Given the description of an element on the screen output the (x, y) to click on. 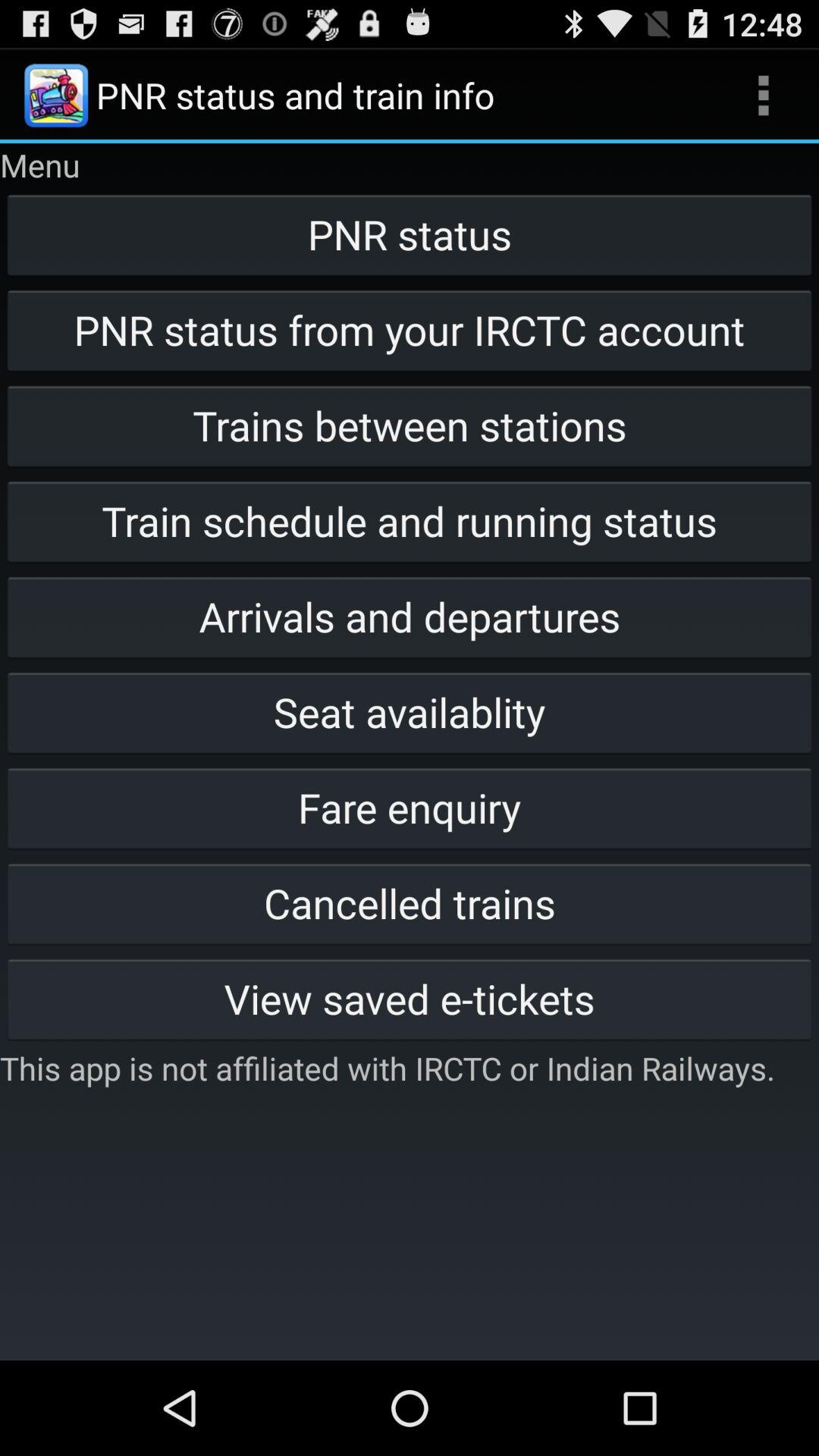
tap the icon below this app is app (409, 1310)
